Given the description of an element on the screen output the (x, y) to click on. 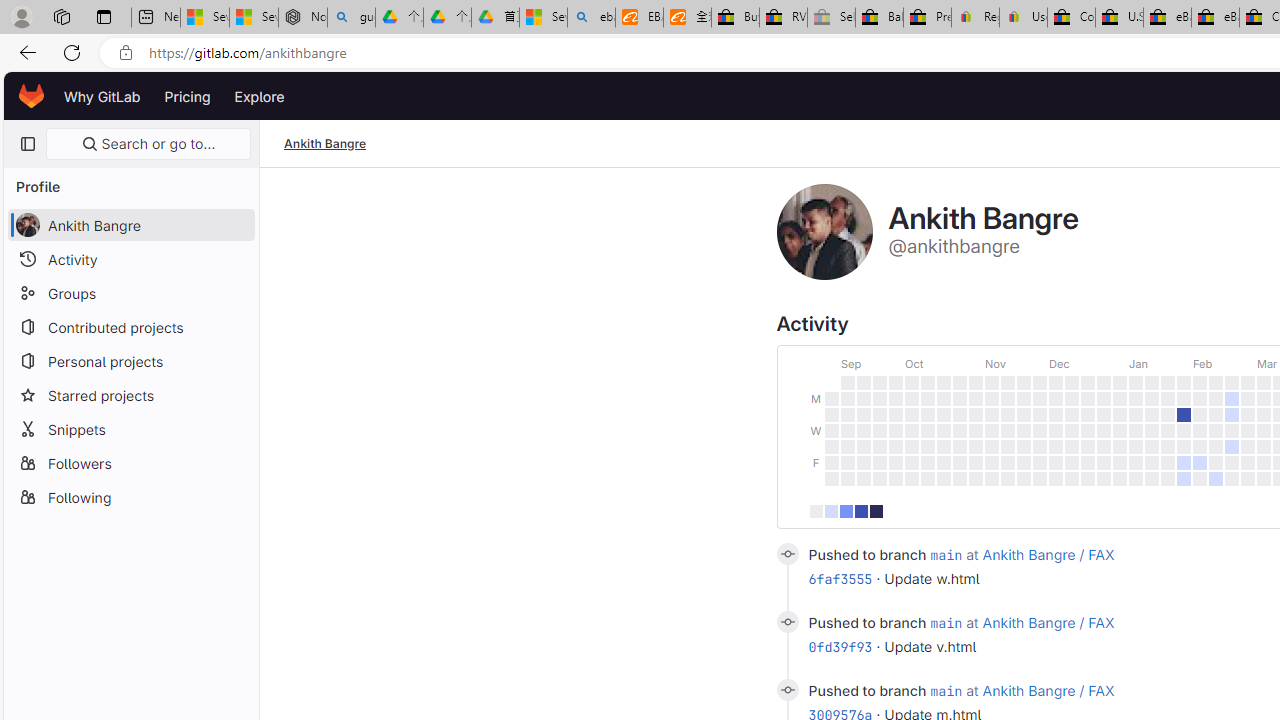
No contributions (815, 510)
Contributed projects (130, 326)
Explore (259, 95)
30+ contributions (876, 510)
